Given the description of an element on the screen output the (x, y) to click on. 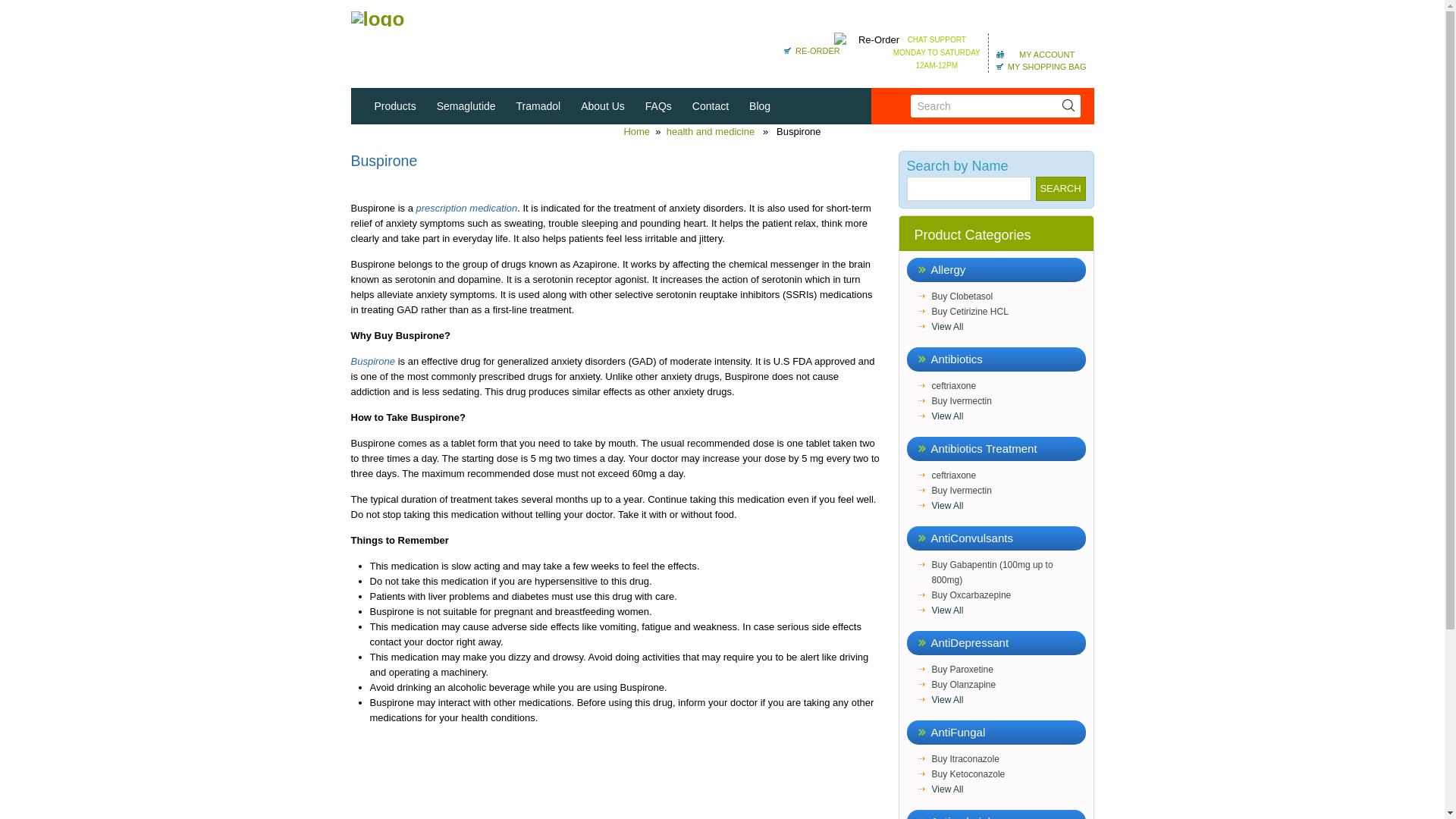
View All (1007, 505)
Buy Ivermectin (1007, 400)
Tramadol (539, 105)
FAQs (658, 105)
ceftriaxone (1007, 385)
Semaglutide (466, 105)
Buy Oxcarbazepine (1007, 595)
ceftriaxone (1007, 475)
View All (1007, 326)
Buy Ivermectin (1007, 490)
Products (395, 105)
RE-ORDER (812, 50)
health and medicine (710, 131)
